Given the description of an element on the screen output the (x, y) to click on. 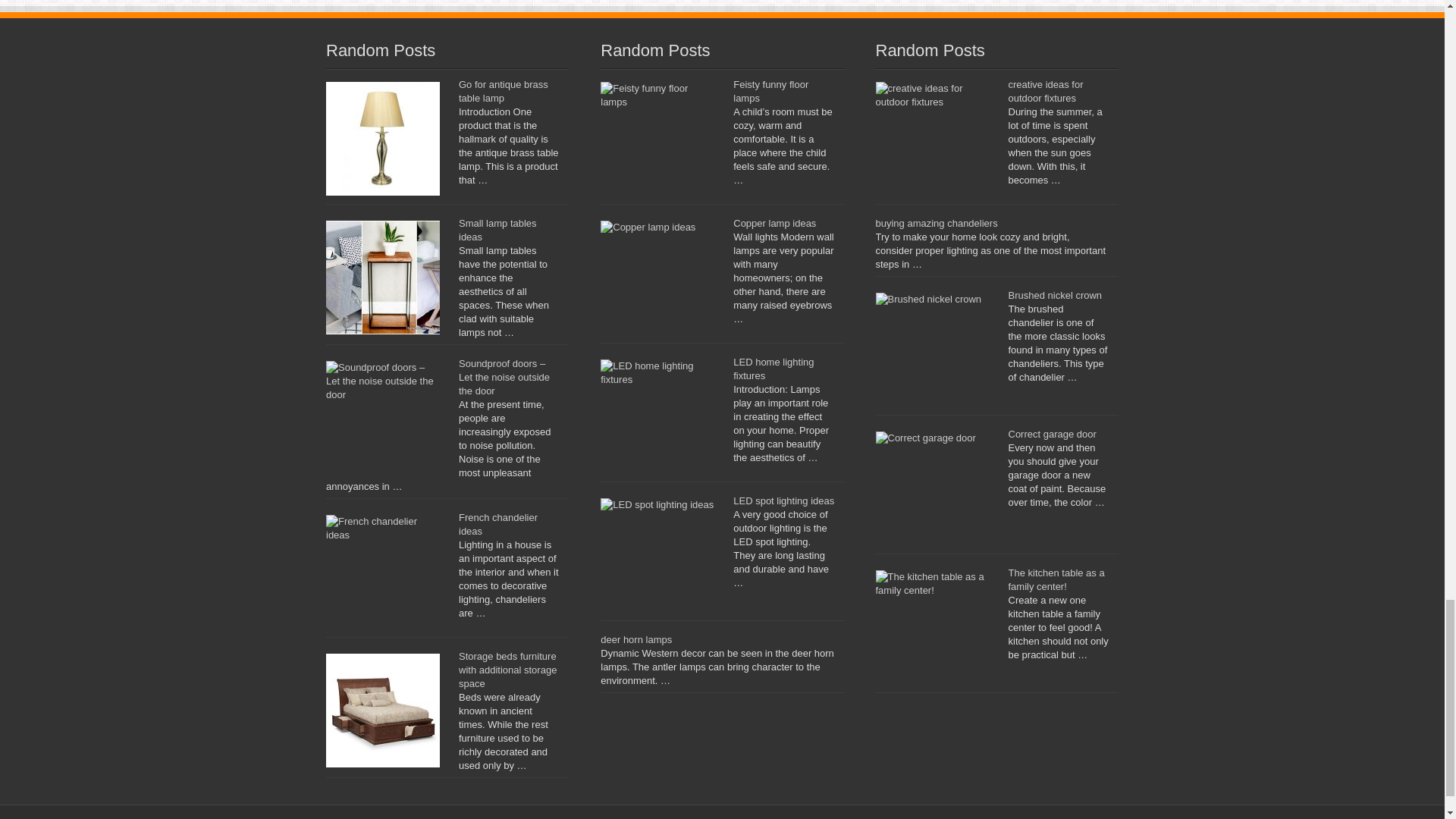
creative ideas for outdoor fixtures (1046, 91)
deer horn lamps (635, 639)
Small lamp tables ideas (497, 229)
Go for antique brass table lamp (503, 91)
buying amazing chandeliers (936, 223)
French chandelier ideas (497, 524)
Copper lamp ideas (774, 223)
Feisty funny floor lamps (770, 91)
LED spot lighting ideas (783, 500)
LED home lighting fixtures (773, 368)
Storage beds furniture with additional storage space (507, 669)
